Given the description of an element on the screen output the (x, y) to click on. 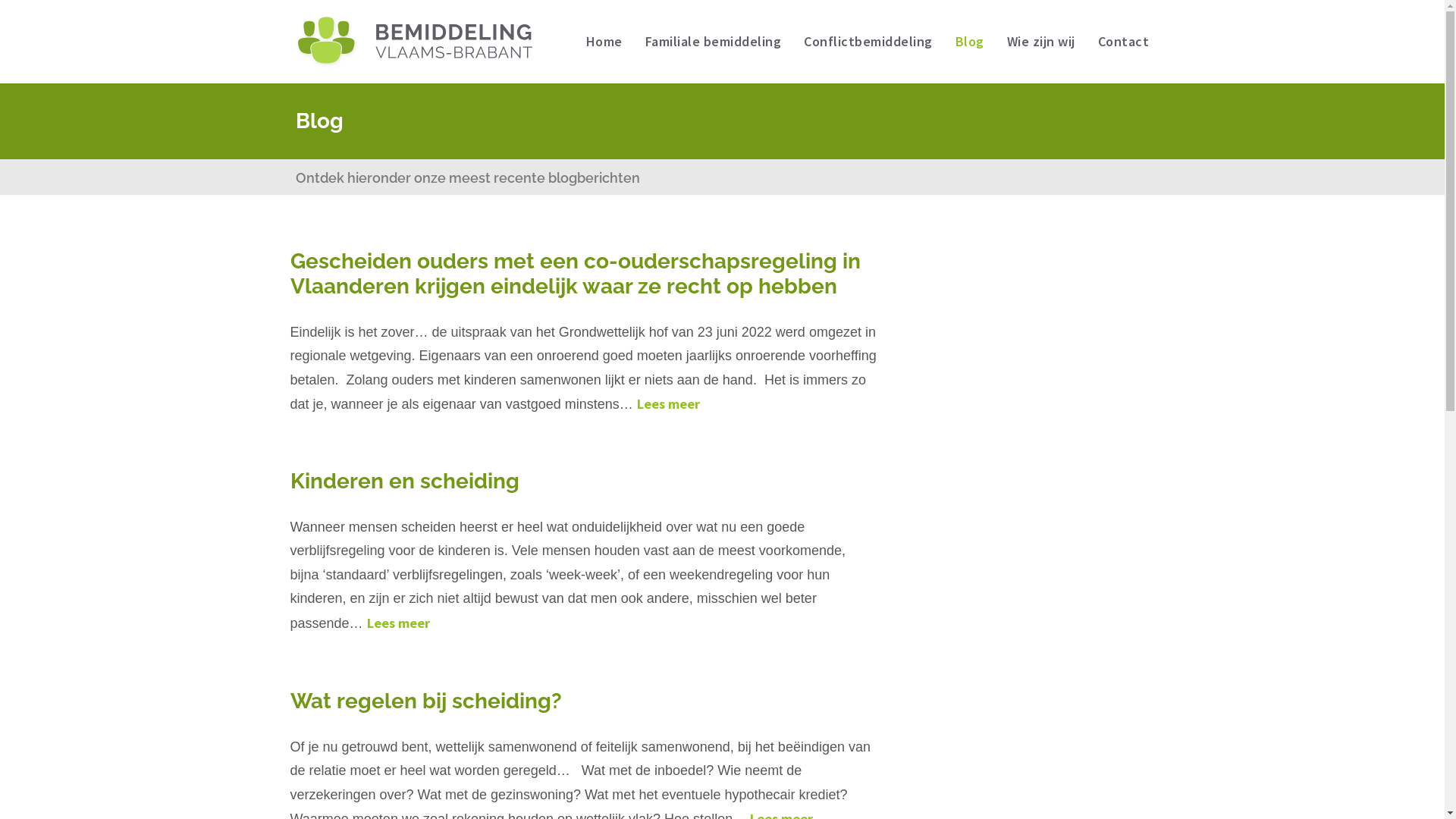
Lees meer Element type: text (668, 403)
Contact Element type: text (1123, 41)
Lees meer Element type: text (398, 622)
Conflictbemiddeling Element type: text (867, 41)
Wie zijn wij Element type: text (1041, 41)
Familiale bemiddeling Element type: text (712, 41)
Blog Element type: text (969, 41)
Home Element type: text (603, 41)
